Given the description of an element on the screen output the (x, y) to click on. 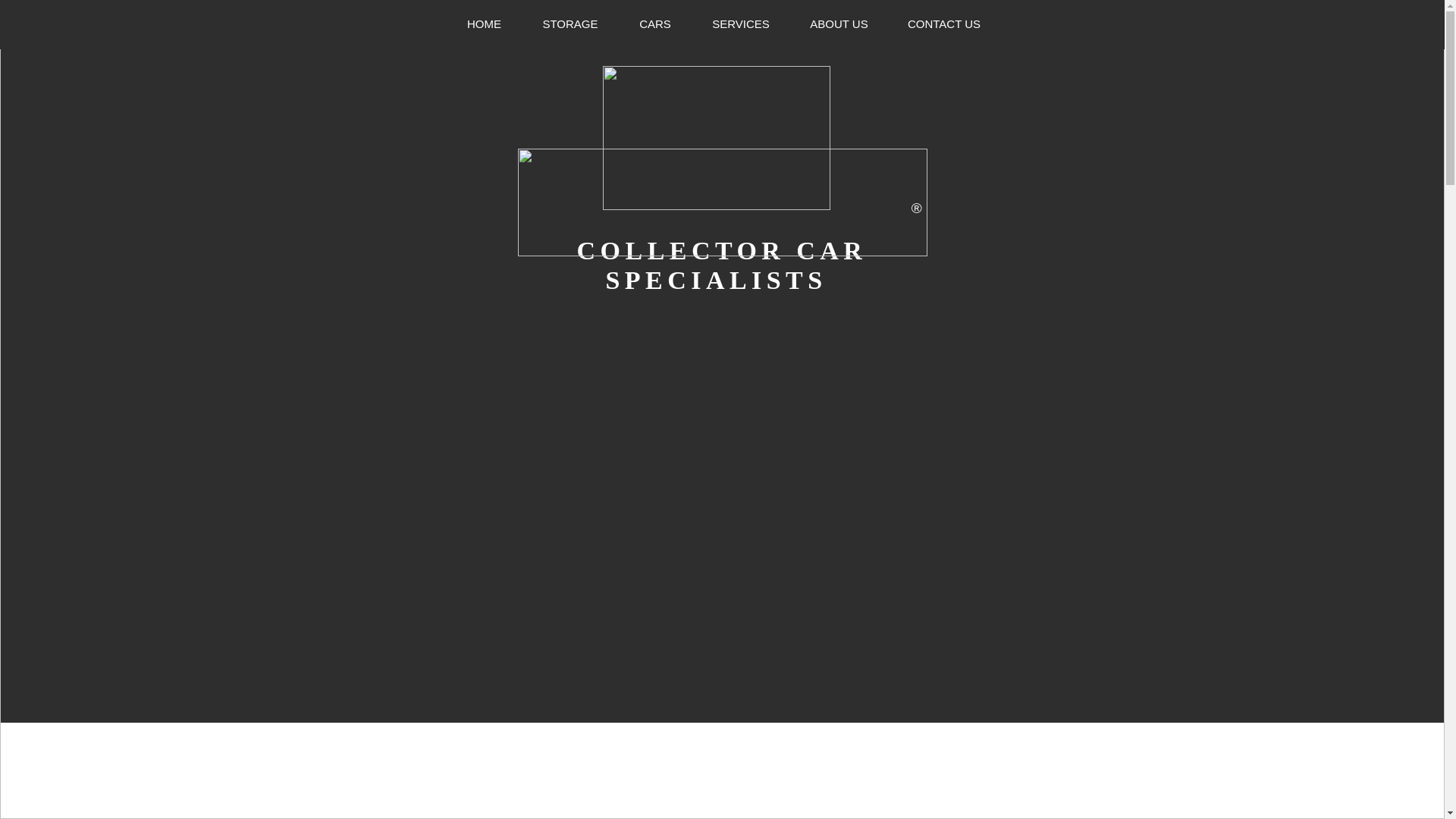
CARS (655, 24)
STORAGE (569, 24)
ABOUT US (838, 24)
HOME (483, 24)
CONTACT US (943, 24)
SERVICES (741, 24)
